Given the description of an element on the screen output the (x, y) to click on. 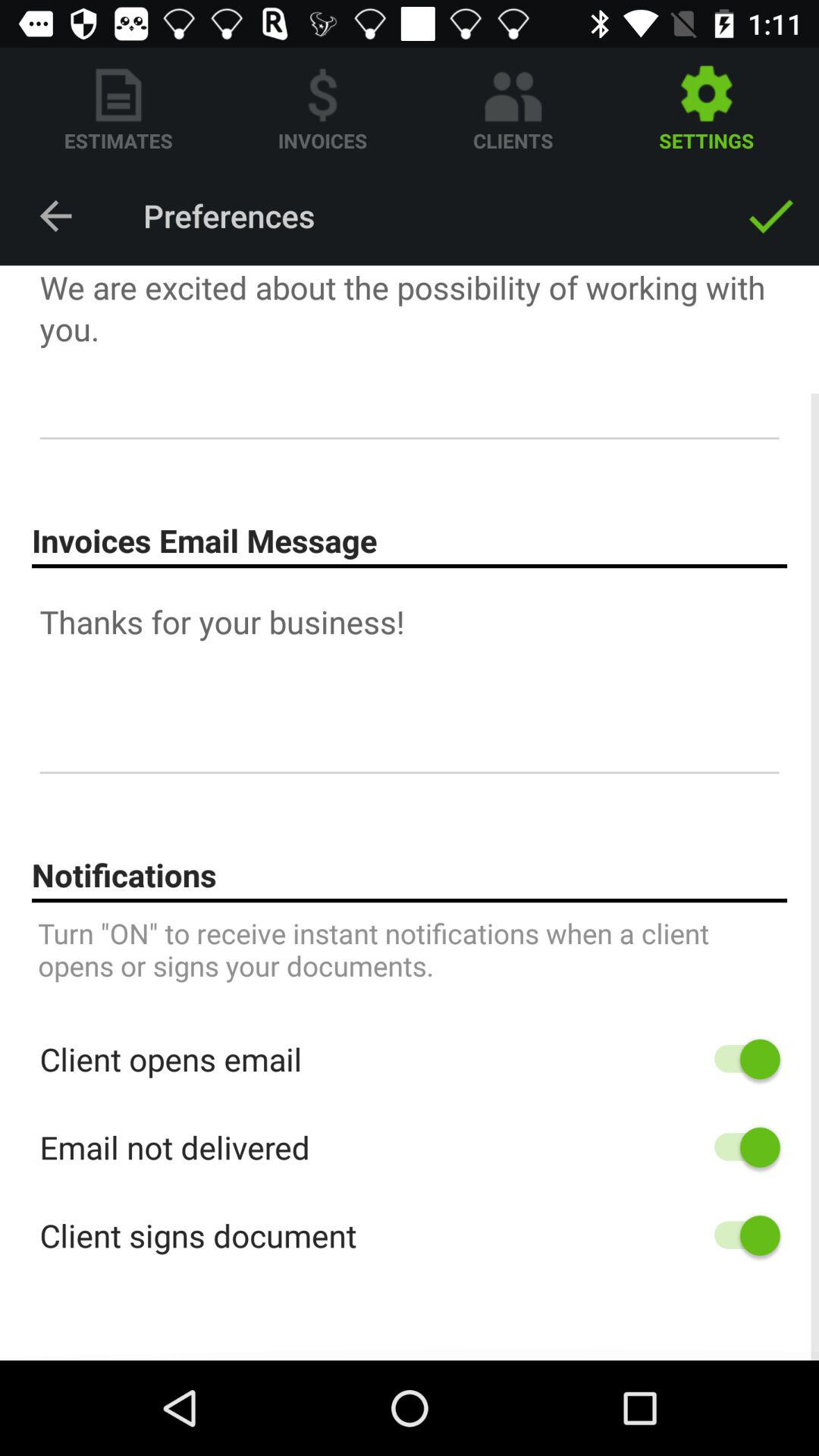
toggle client opens email (739, 1059)
